Given the description of an element on the screen output the (x, y) to click on. 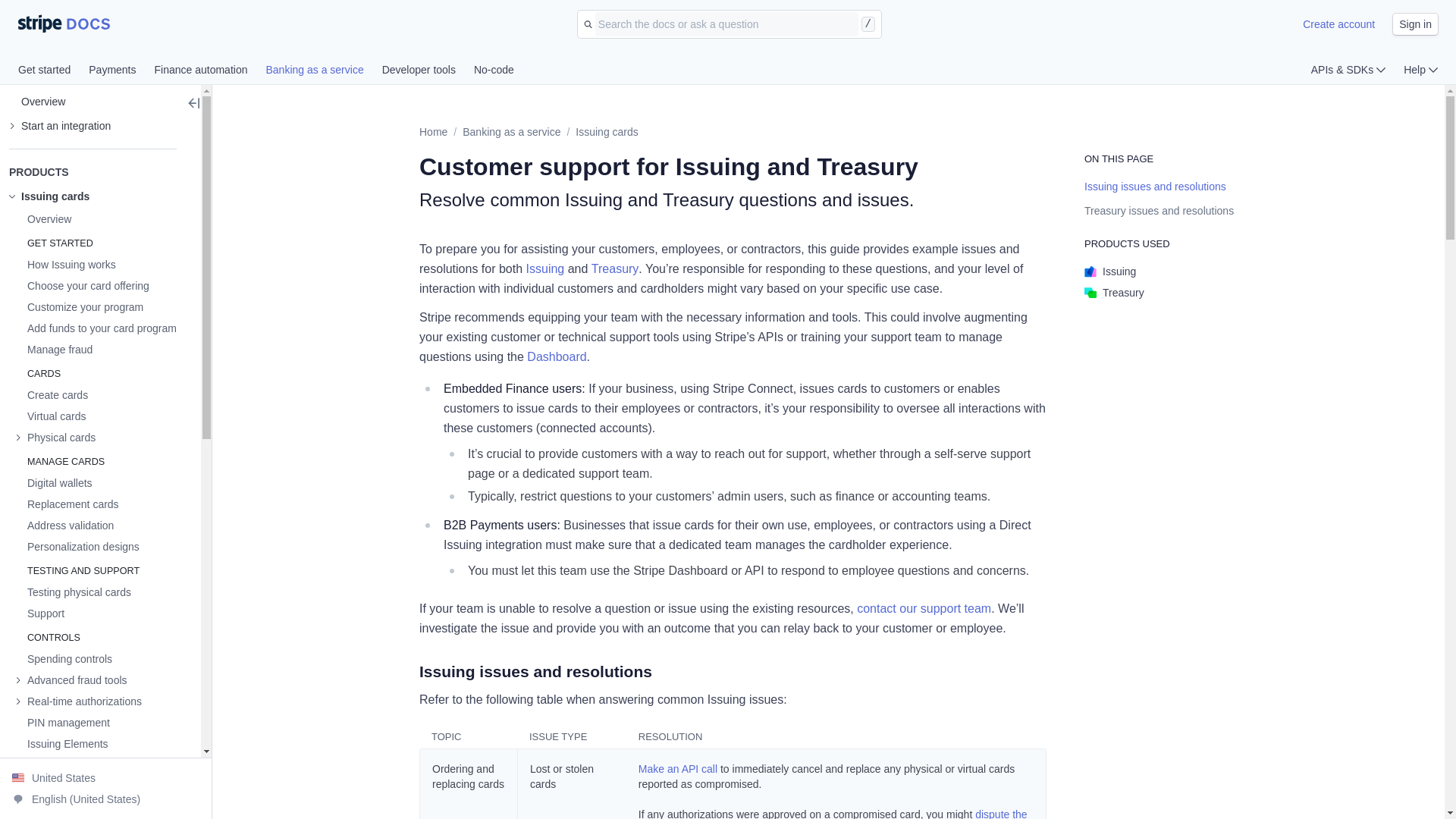
Issuing cards (606, 132)
No-code (493, 71)
Start an integration (59, 125)
Developer tools (427, 71)
Banking as a service (322, 71)
Sign in (1415, 24)
Manage fraud (53, 349)
Create cards (50, 394)
Understand the types of cards you can offer your cardholders (81, 285)
Get started (52, 71)
How Issuing works (65, 264)
Choose your card offering (81, 285)
Treasury issues and resolutions  (1158, 210)
Payments (121, 71)
